Given the description of an element on the screen output the (x, y) to click on. 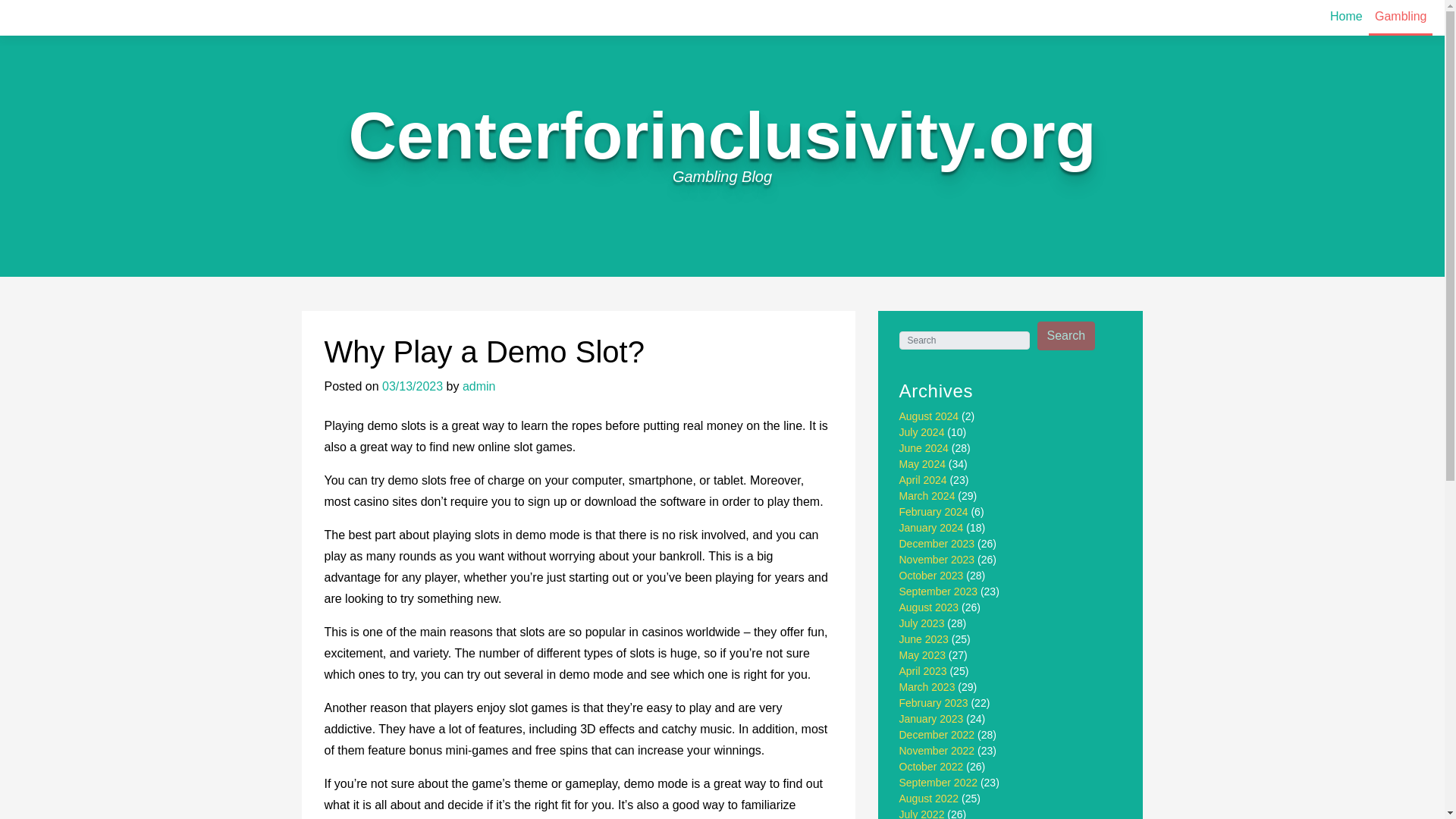
January 2024 (931, 527)
November 2023 (937, 559)
October 2023 (931, 575)
May 2023 (921, 654)
April 2023 (923, 671)
January 2023 (931, 718)
August 2022 (929, 798)
May 2024 (921, 463)
August 2023 (929, 607)
August 2024 (929, 416)
